Given the description of an element on the screen output the (x, y) to click on. 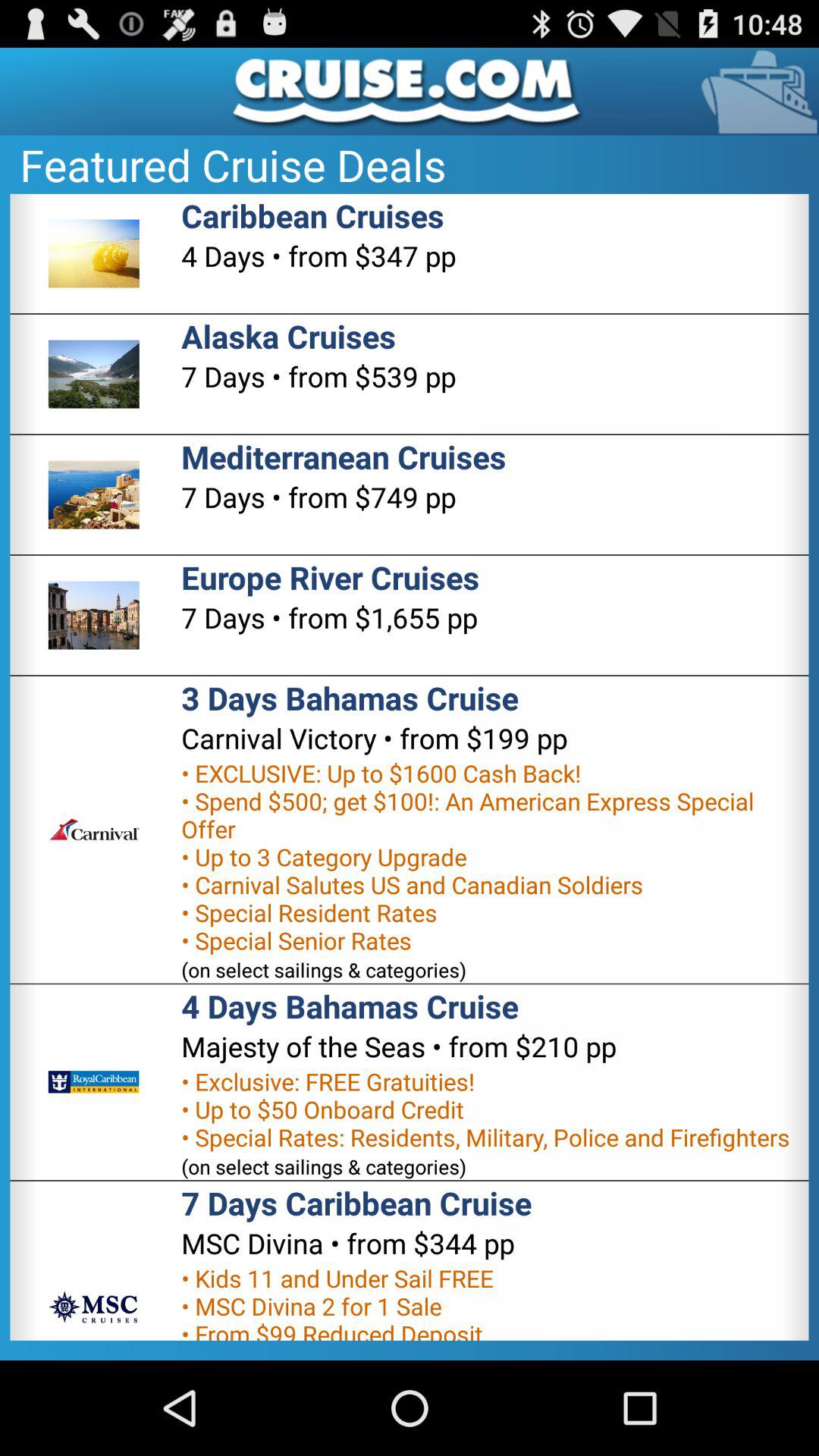
tap the carnival victory from icon (374, 738)
